Given the description of an element on the screen output the (x, y) to click on. 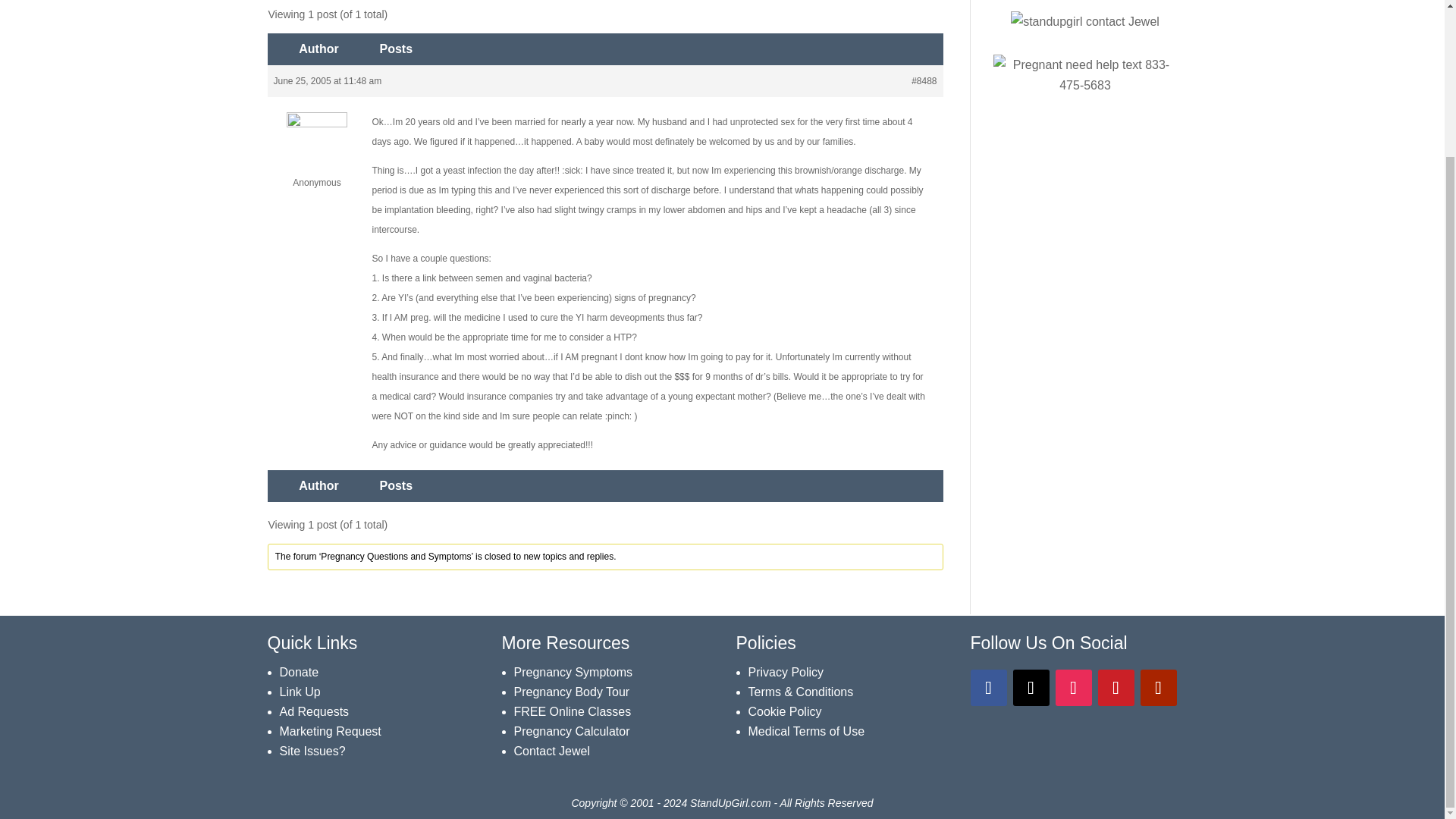
Site issue contact us (312, 750)
Privacy Policy (786, 671)
Follow on Instagram (1073, 687)
Ad Requests (314, 711)
Follow on Facebook (989, 687)
Follow on Youtube (1158, 687)
BrightCourse Online Classes (572, 711)
Follow on Pinterest (1115, 687)
Follow on Twitter (1031, 687)
donate to Standupgirl.com foundation (298, 671)
